Given the description of an element on the screen output the (x, y) to click on. 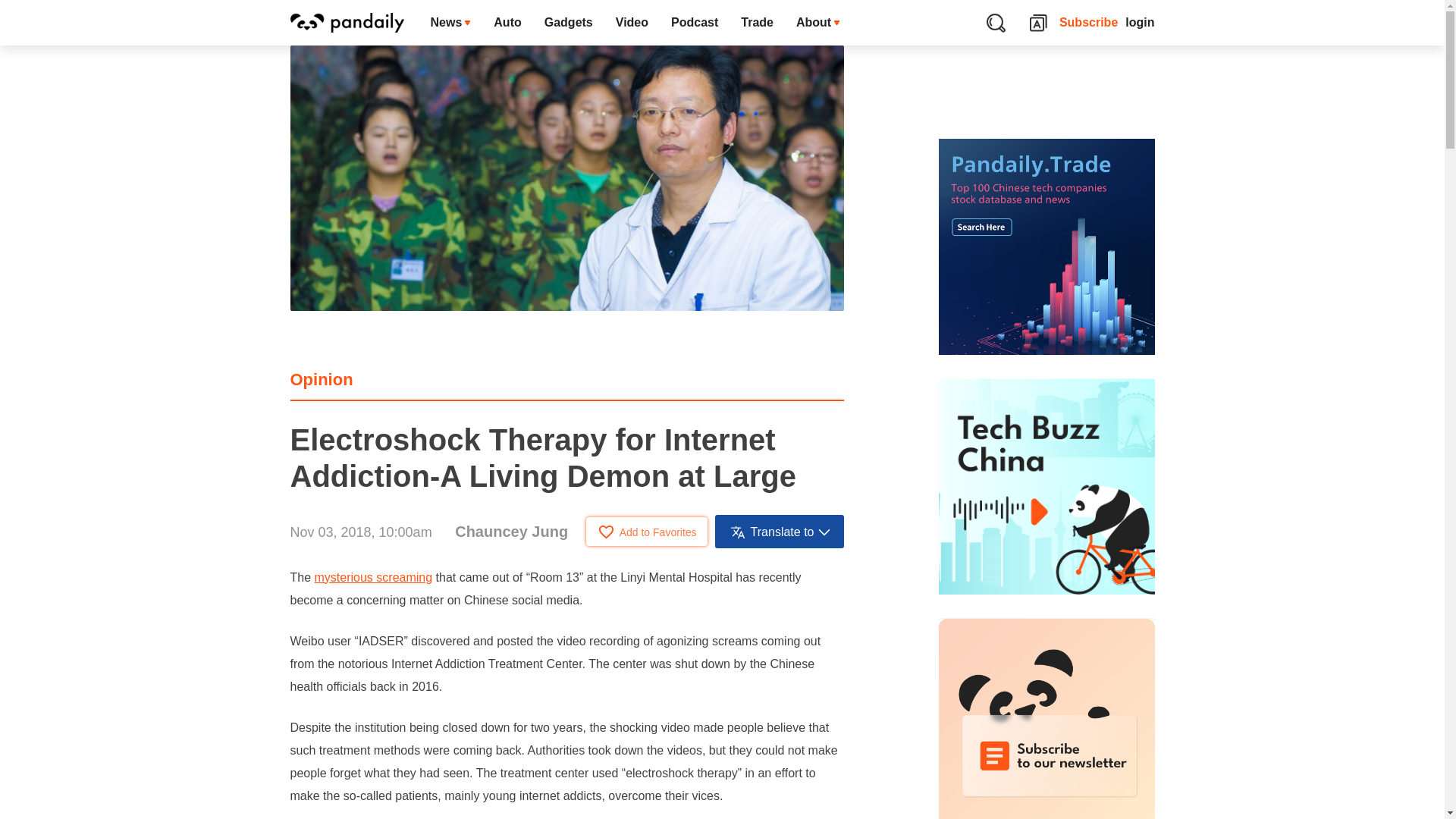
Podcast (694, 22)
login (1139, 22)
Gadgets (568, 22)
Subscribe (1088, 22)
Opinion (320, 379)
Translate to (779, 531)
Auto (506, 22)
Add to Favorites (646, 531)
Chauncey Jung (510, 531)
About (817, 22)
News (450, 22)
Trade (756, 22)
Video (631, 22)
Nov 03, 2018, 10:00am (359, 531)
